Given the description of an element on the screen output the (x, y) to click on. 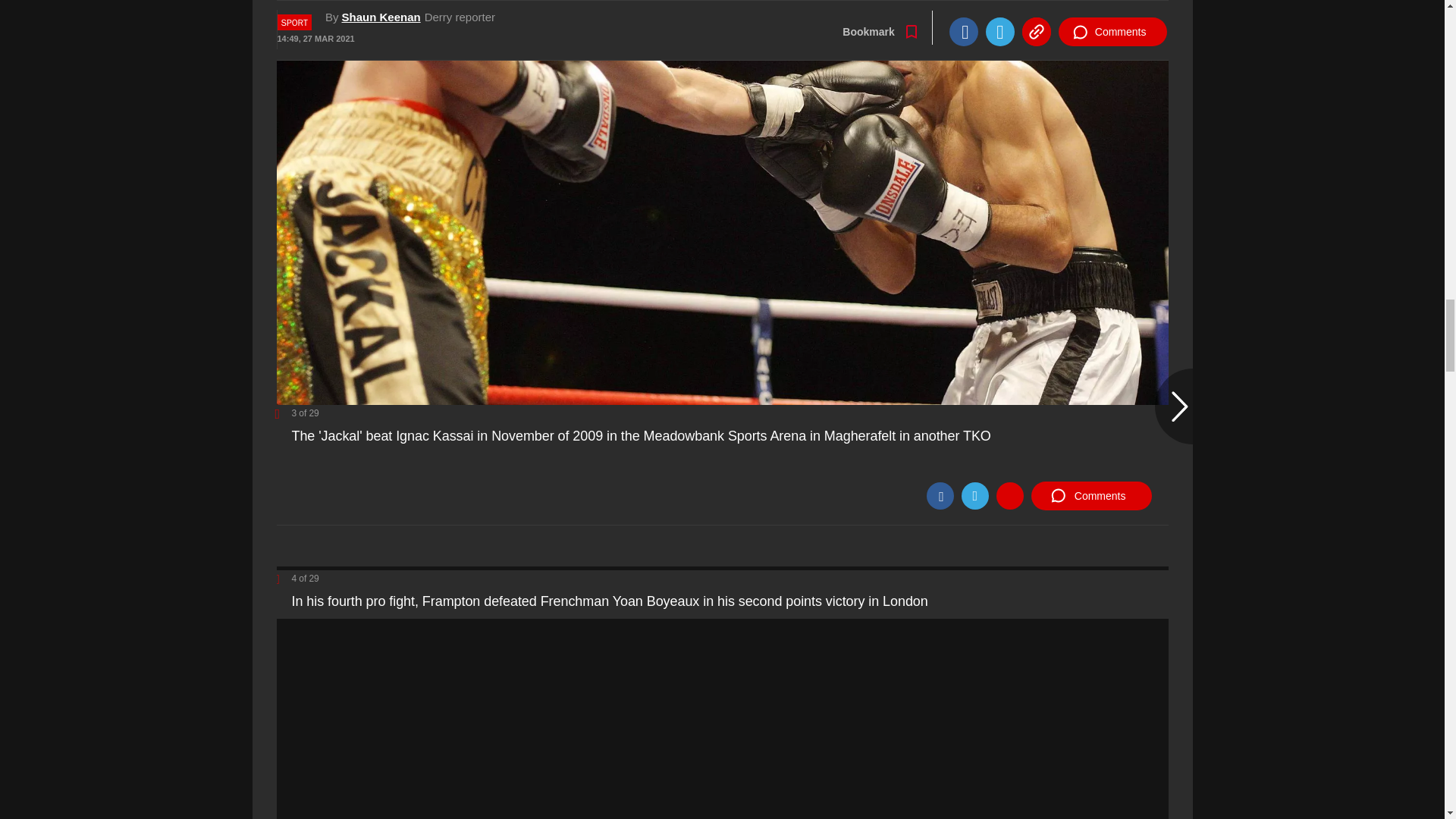
Twitter (974, 495)
Comments (1090, 495)
Facebook (939, 495)
